Given the description of an element on the screen output the (x, y) to click on. 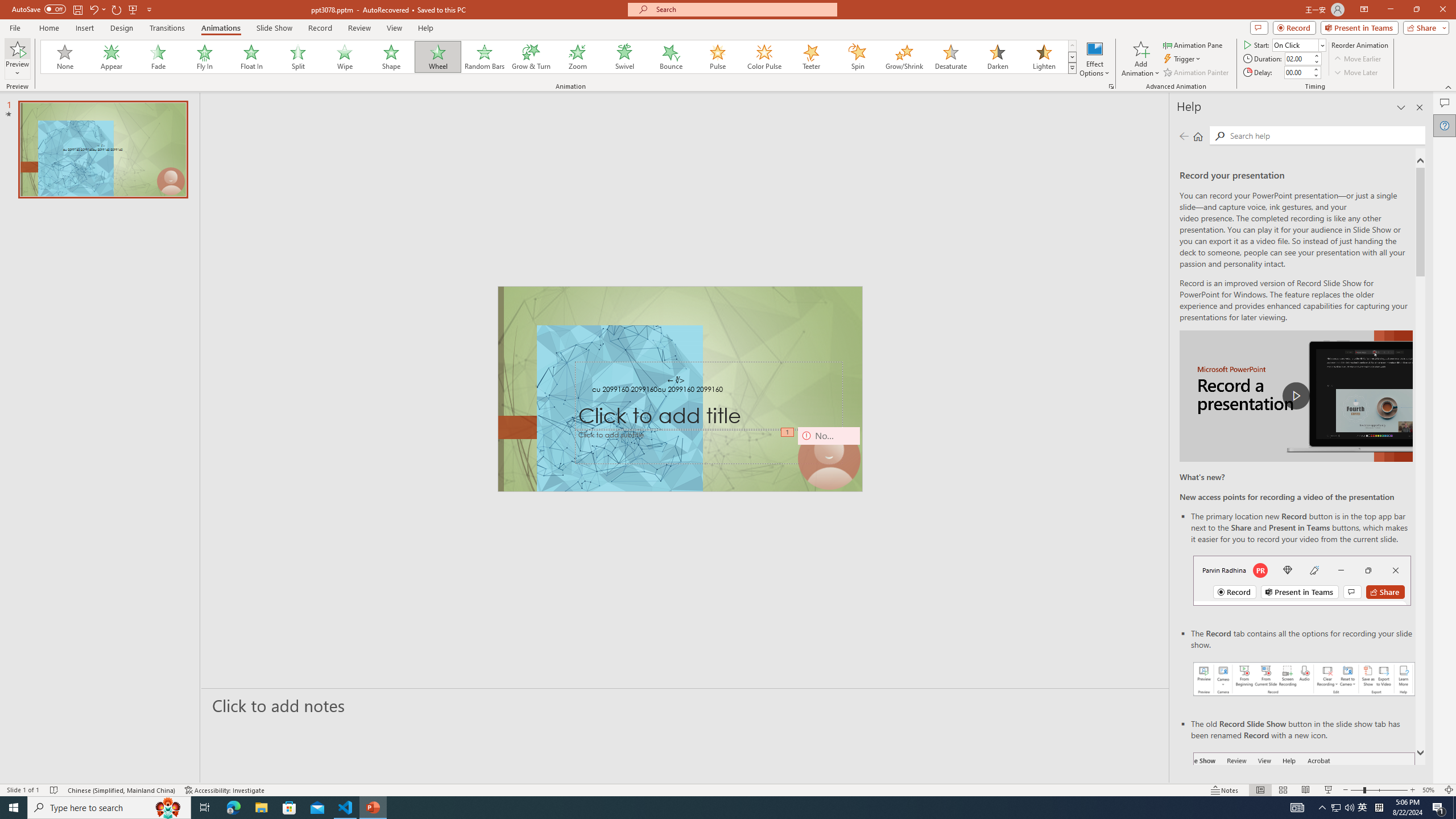
None (65, 56)
An abstract genetic concept (679, 388)
Animation Painter (1196, 72)
Color Pulse (764, 56)
TextBox 7 (676, 380)
